Given the description of an element on the screen output the (x, y) to click on. 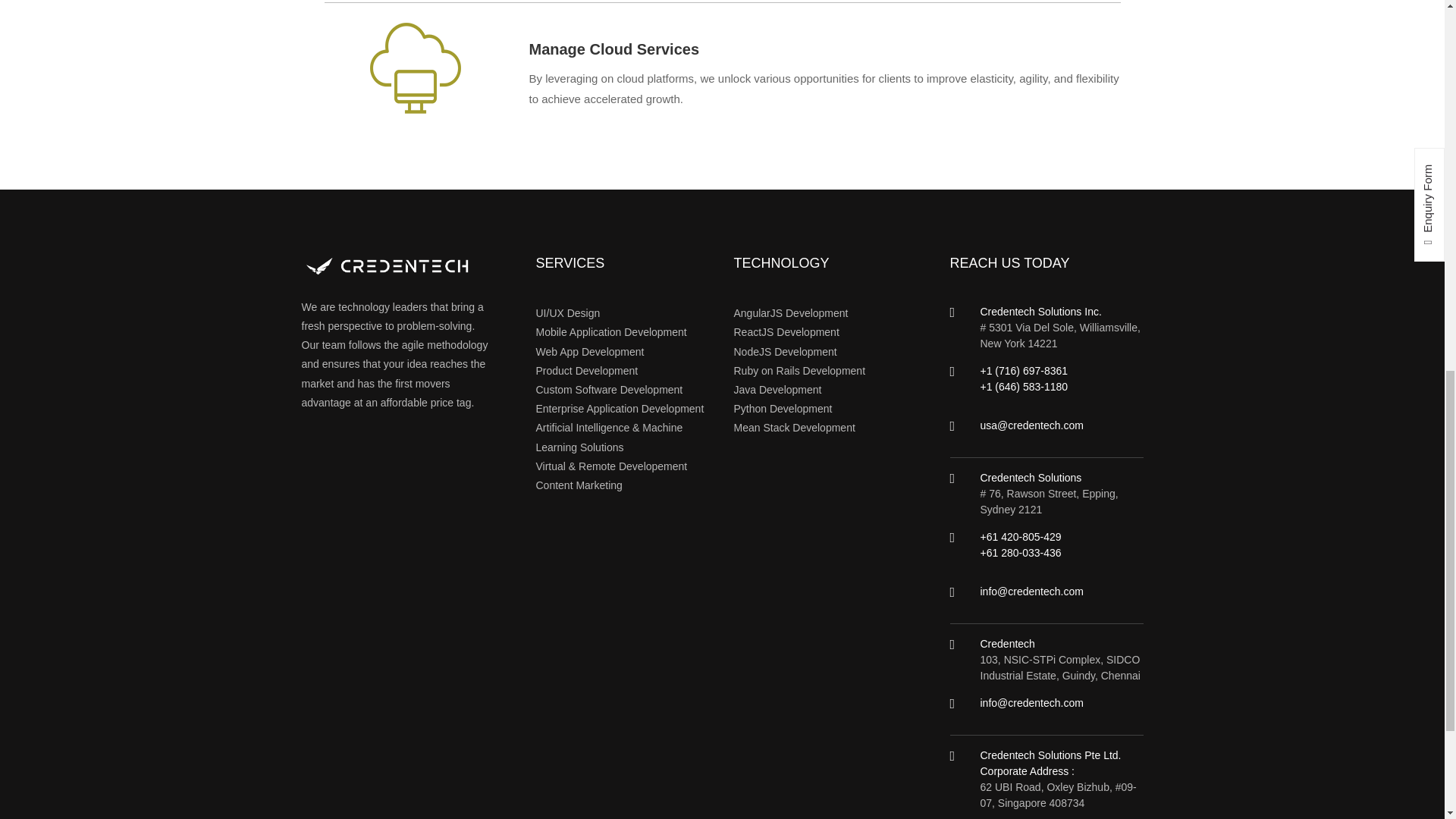
Mobile Application Development (610, 331)
Web App Development (589, 351)
Custom Software Development (608, 389)
Content Marketing (578, 485)
Enterprise Application Development (619, 408)
Product Development (586, 370)
